Given the description of an element on the screen output the (x, y) to click on. 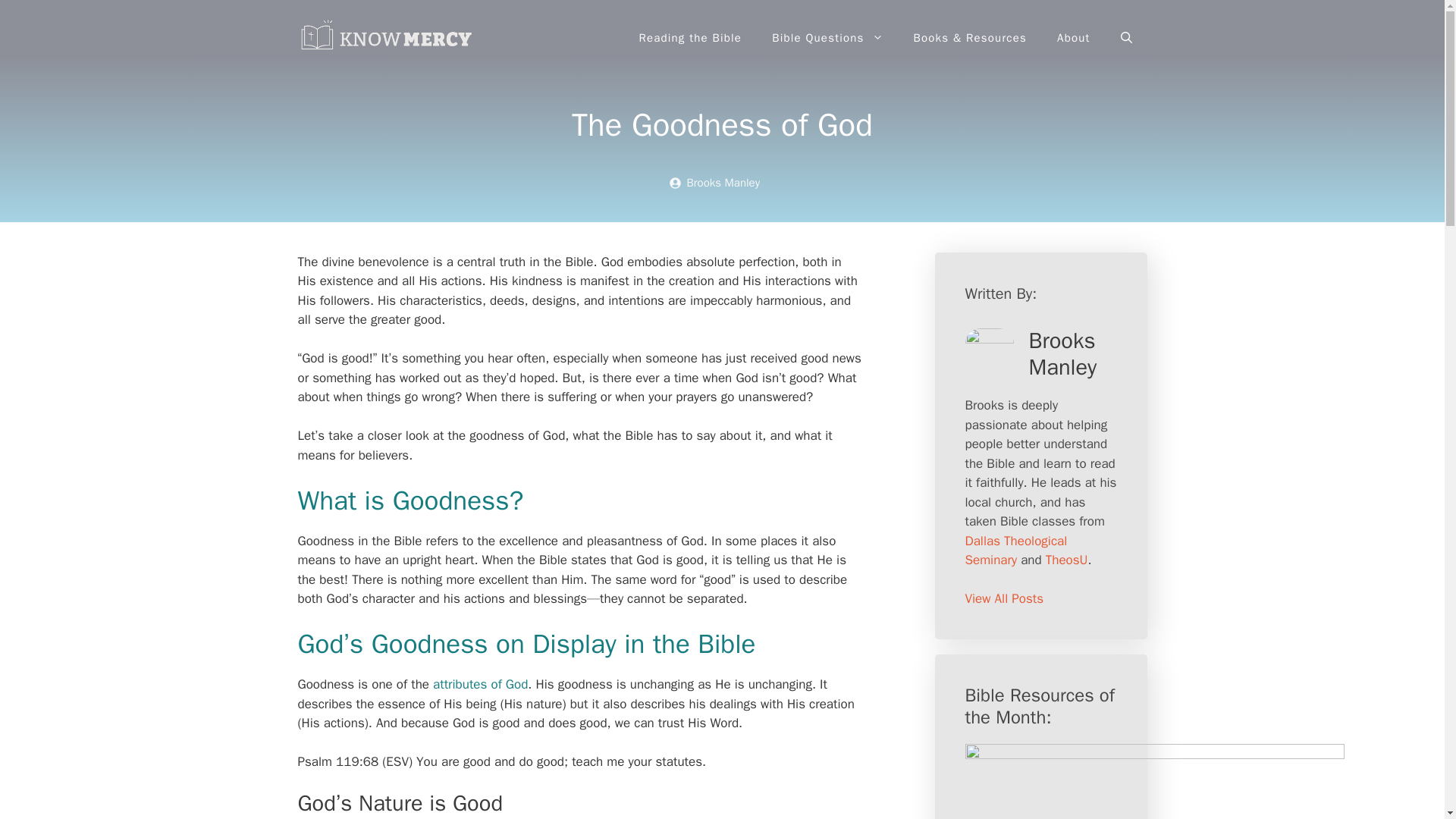
Reading the Bible (690, 37)
About (1073, 37)
attributes of God (479, 684)
Bible Questions (827, 37)
Understanding the Bible (388, 37)
Understanding the Bible (388, 36)
